Given the description of an element on the screen output the (x, y) to click on. 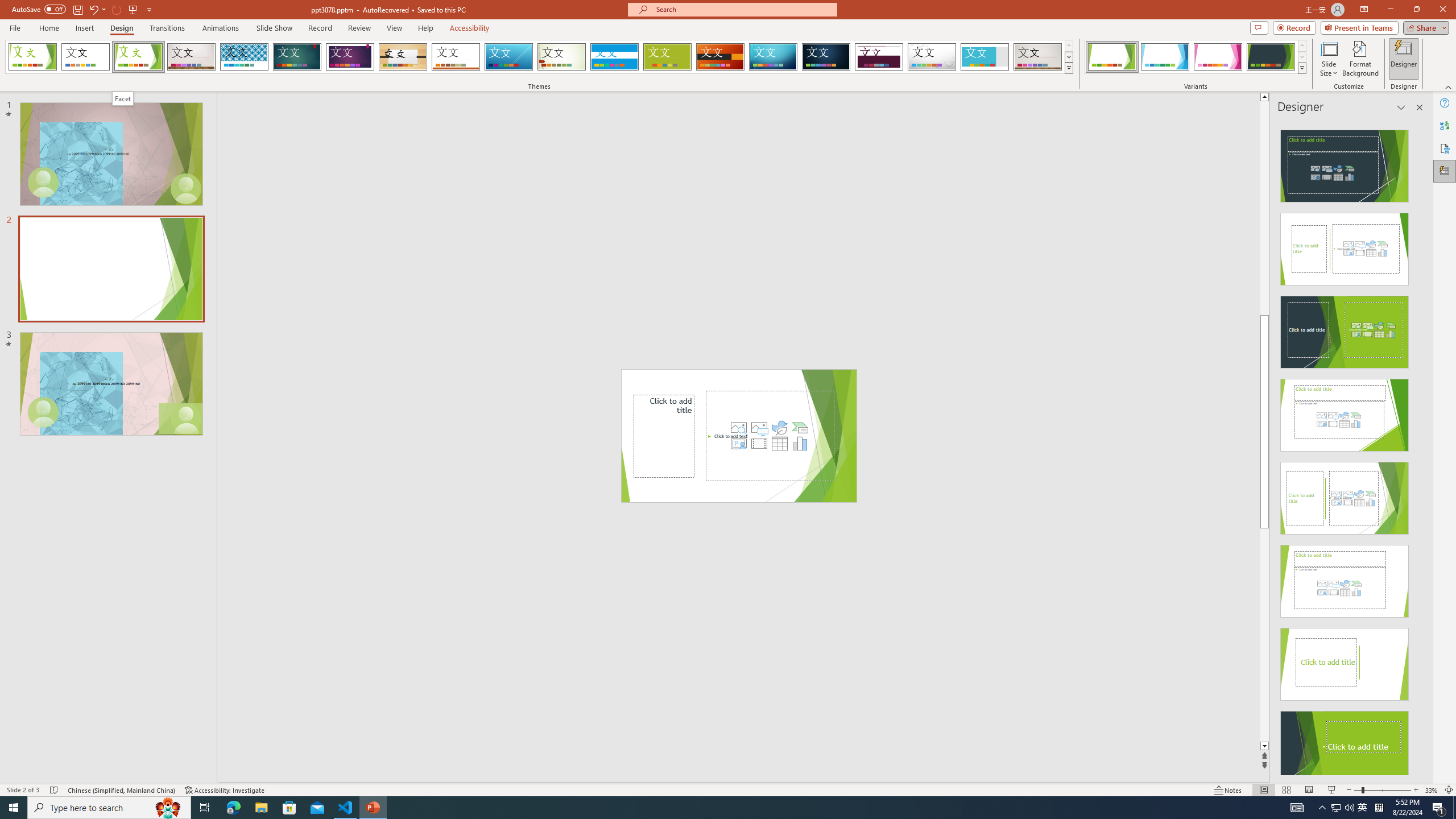
Retrospect (455, 56)
Variants (1301, 67)
Droplet (931, 56)
Insert a SmartArt Graphic (799, 427)
Facet Variant 1 (1112, 56)
